Given the description of an element on the screen output the (x, y) to click on. 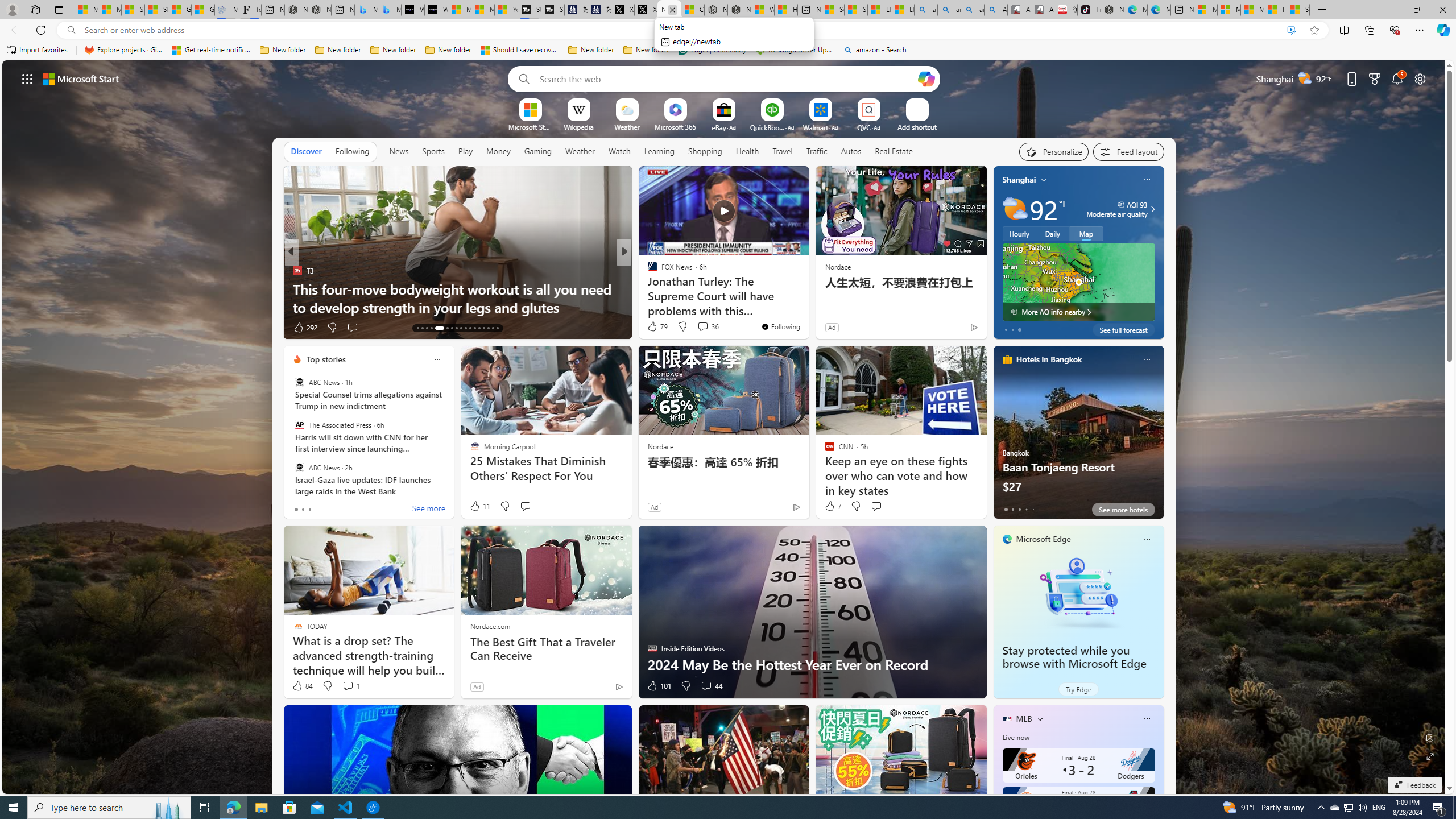
Class: weather-arrow-glyph (1152, 208)
292 Like (304, 327)
Class: icon-img (1146, 718)
Ad Choice (619, 686)
amazon - Search Images (972, 9)
The Best Gift That a Traveler Can Receive (546, 648)
Tab actions menu (58, 9)
Feedback (1414, 784)
Microsoft rewards (1374, 78)
View comments 36 Comment (707, 326)
amazon - Search (949, 9)
Browser essentials (1394, 29)
AutomationID: tab-25 (478, 328)
